Given the description of an element on the screen output the (x, y) to click on. 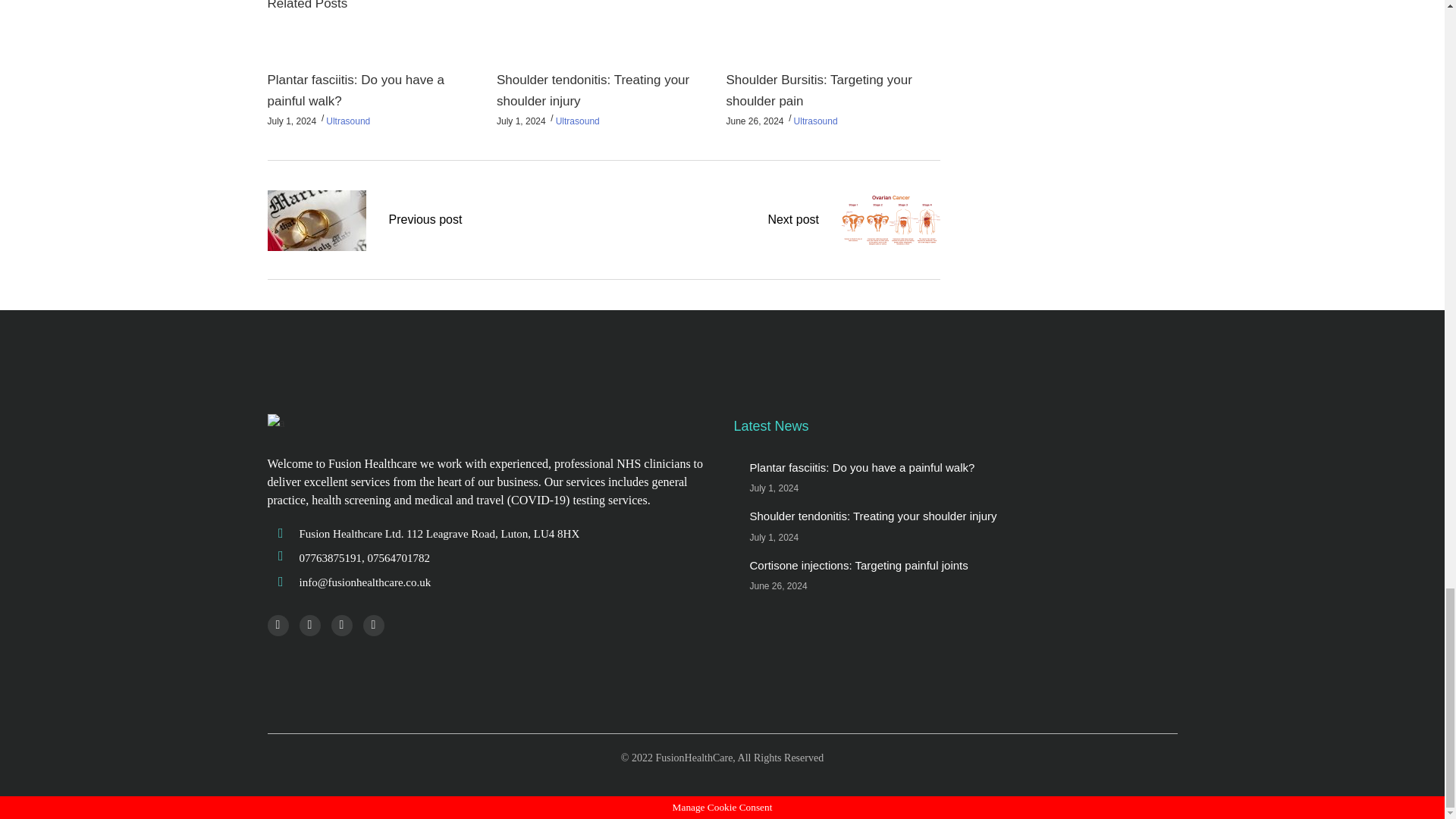
Plantar fasciitis: Do you have a painful walk? (355, 90)
Shoulder tendonitis: Treating your shoulder injury (592, 90)
Shoulder Bursitis: Targeting your shoulder pain (818, 90)
